Given the description of an element on the screen output the (x, y) to click on. 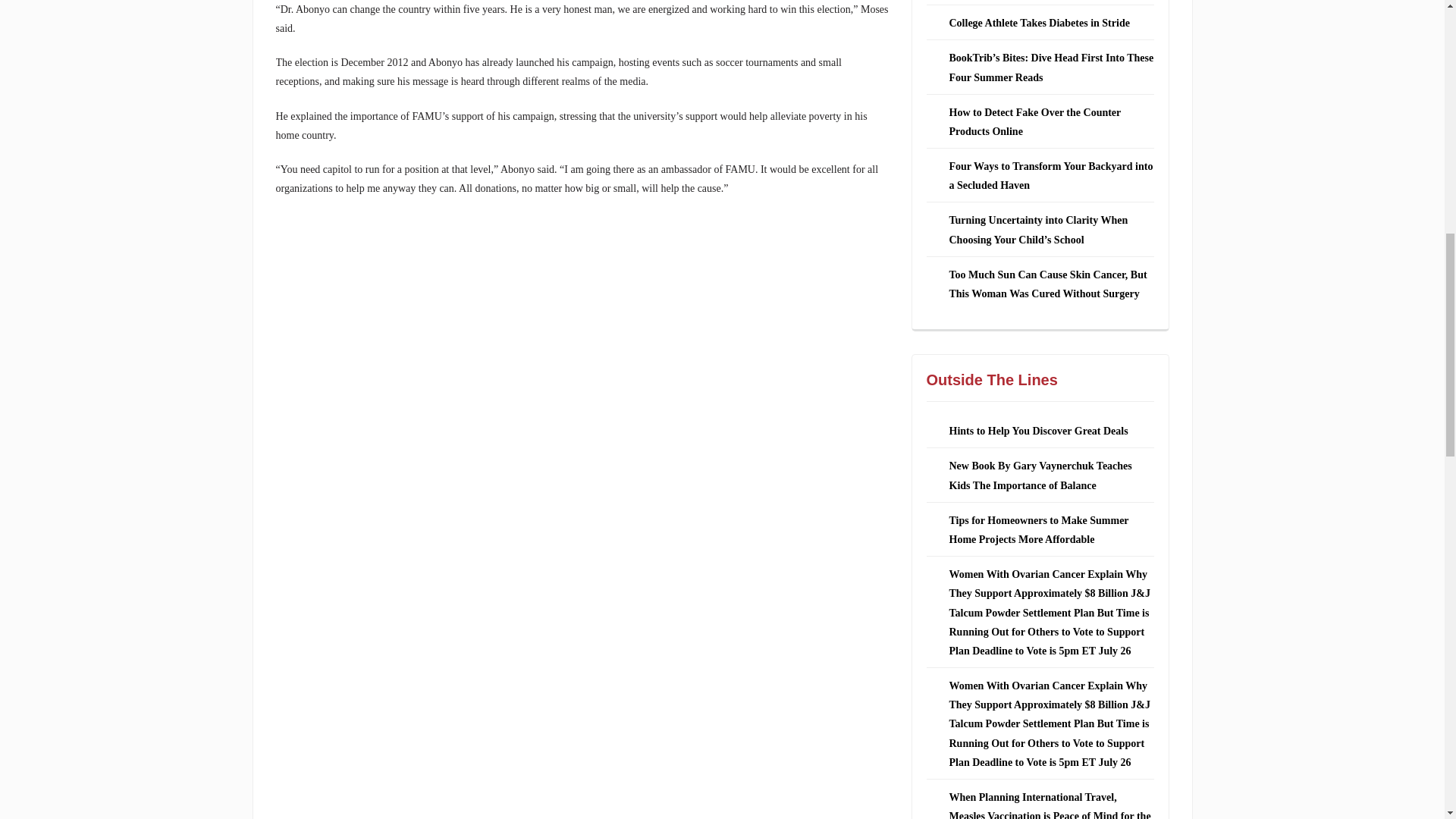
Four Ways to Transform Your Backyard into a Secluded Haven (1051, 175)
How to Detect Fake Over the Counter Products Online (1035, 122)
Hints to Help You Discover Great Deals (1038, 430)
How to Detect Fake Over the Counter Products Online (1035, 122)
College Athlete Takes Diabetes in Stride (1039, 22)
College Athlete Takes Diabetes in Stride (1039, 22)
Four Ways to Transform Your Backyard into a Secluded Haven (1051, 175)
